Given the description of an element on the screen output the (x, y) to click on. 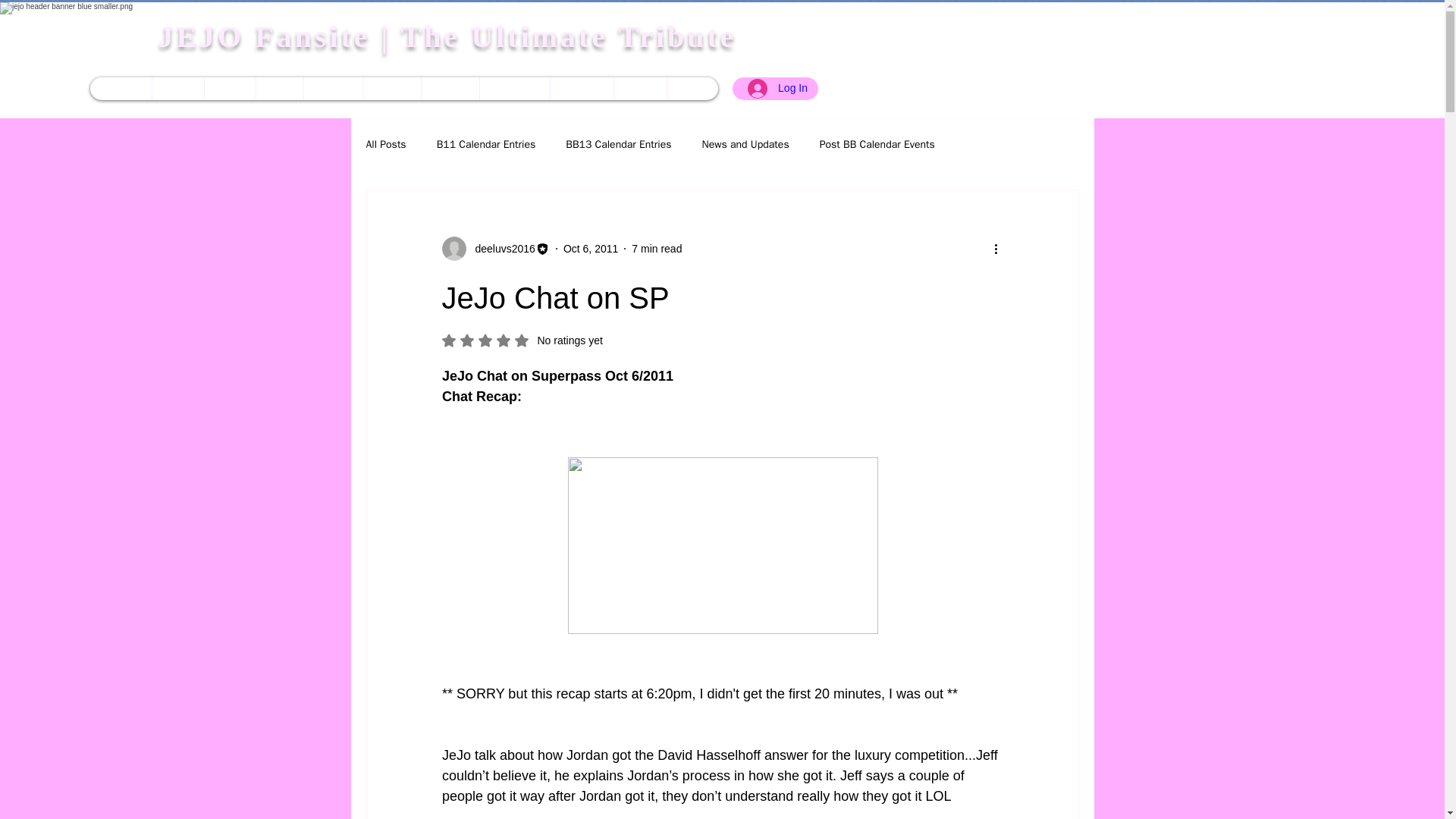
Videos (449, 87)
Photos (391, 87)
Log In (777, 88)
Blog (279, 87)
7 min read (656, 248)
Story (177, 87)
News (521, 340)
HOME (229, 87)
Links (120, 87)
BB13 Calendar Entries (639, 87)
deeluvs2016 (618, 144)
News and Updates (494, 248)
Calendar (745, 144)
Archive (514, 87)
